Given the description of an element on the screen output the (x, y) to click on. 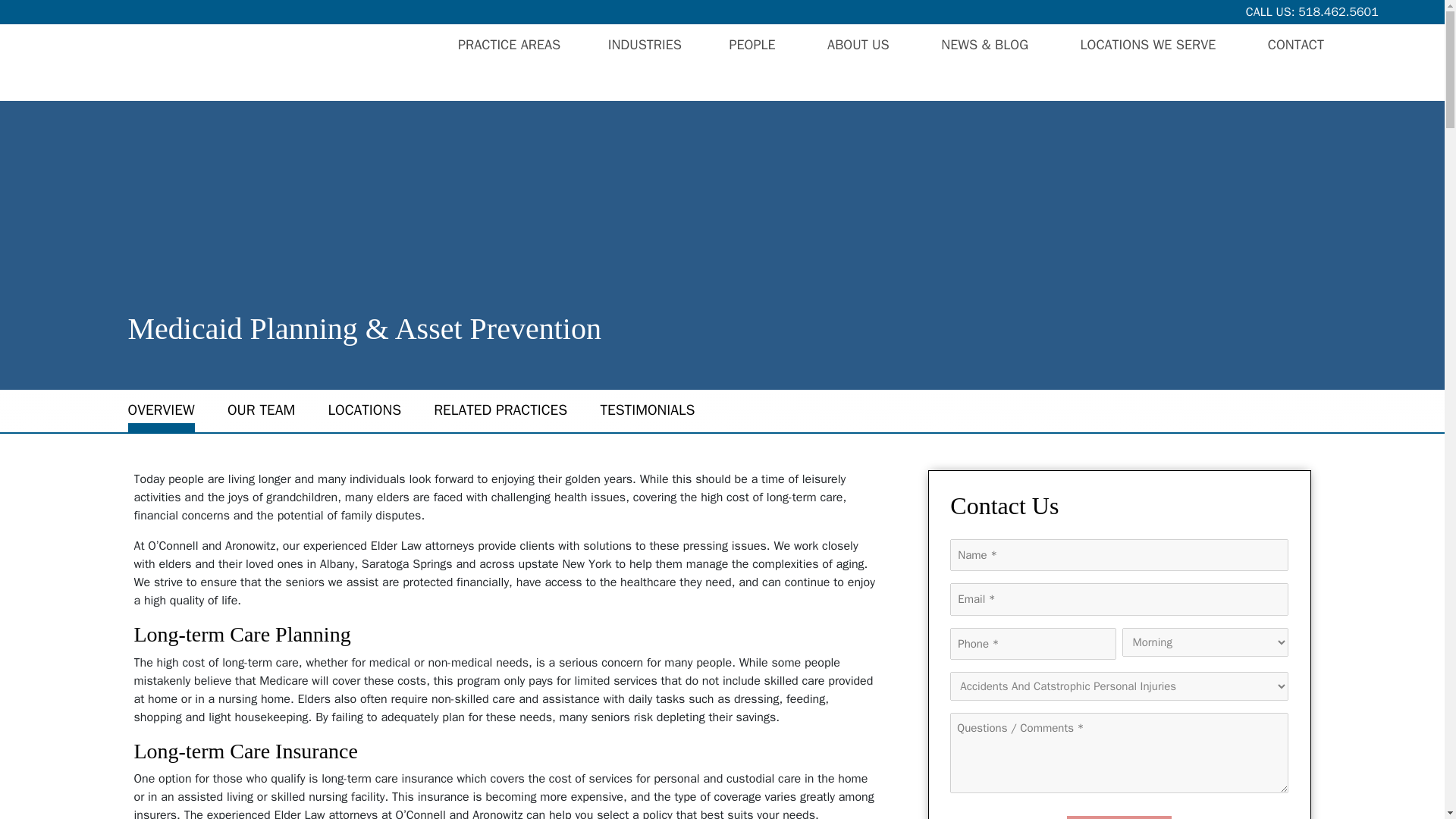
CONTACT (1295, 44)
ABOUT US (860, 44)
PRACTICE AREAS (509, 44)
LOCATIONS WE SERVE (1150, 44)
PEOPLE (753, 44)
INDUSTRIES (644, 44)
CALL US: 518.462.5601 (1312, 12)
Search (1382, 65)
OVERVIEW (160, 410)
